Given the description of an element on the screen output the (x, y) to click on. 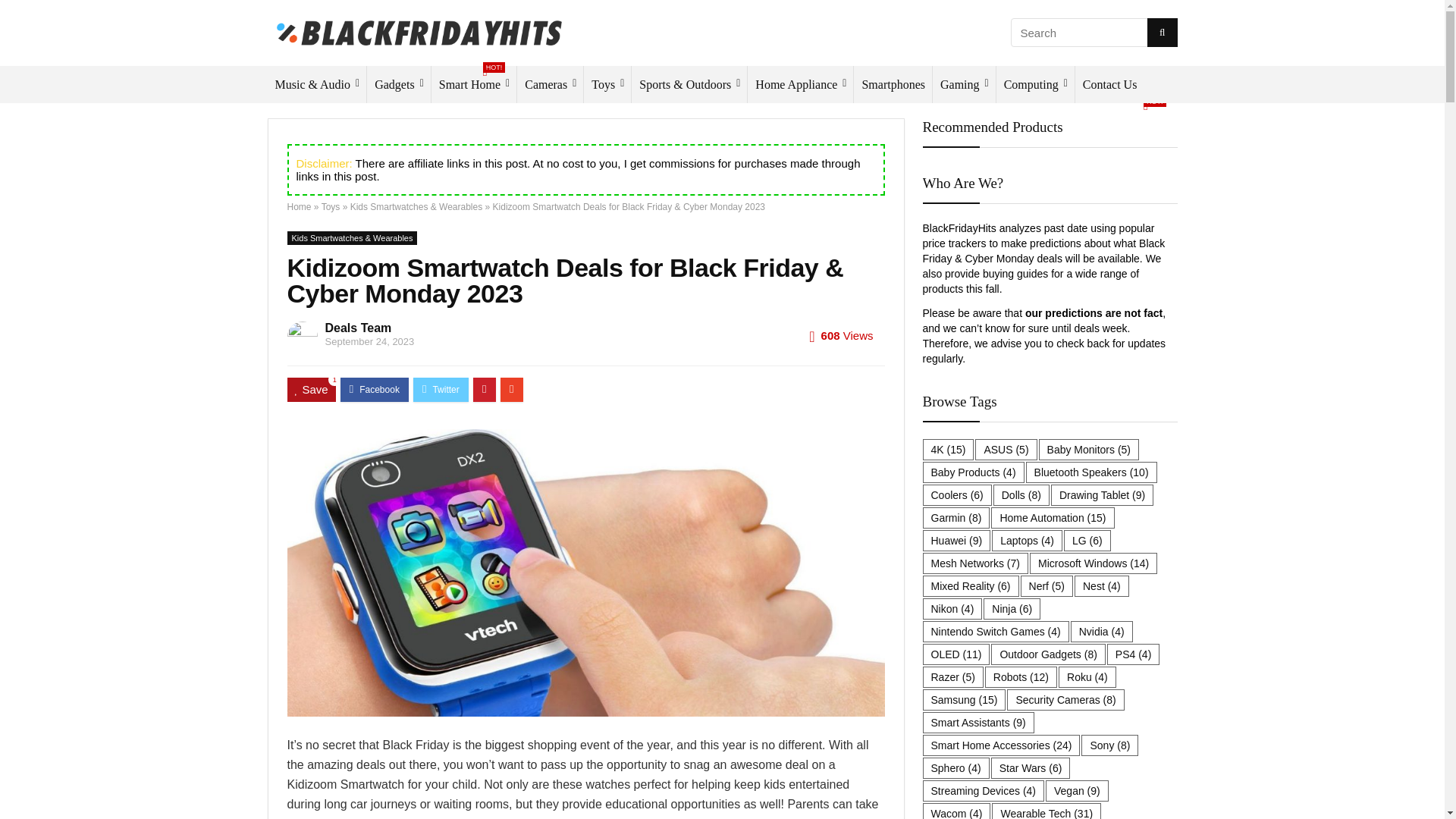
Toys (606, 84)
Cameras (549, 84)
Gadgets (398, 84)
Home Appliance (800, 84)
